Given the description of an element on the screen output the (x, y) to click on. 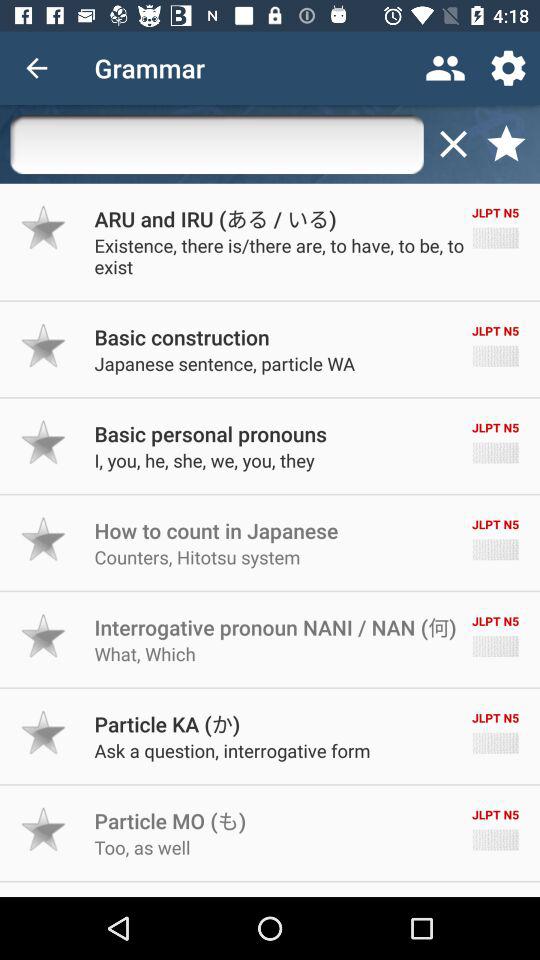
if you agree (44, 829)
